Given the description of an element on the screen output the (x, y) to click on. 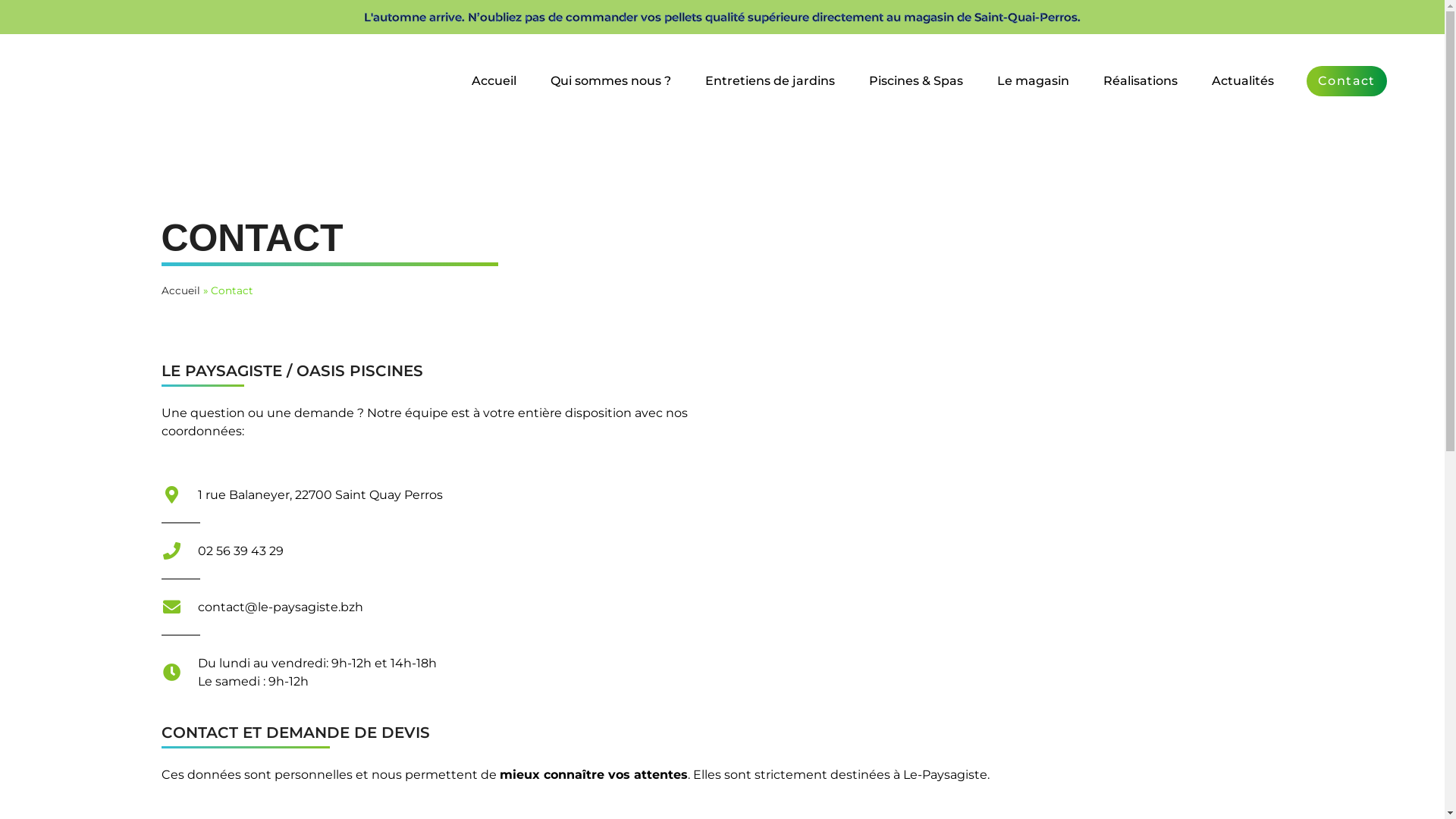
Accueil Element type: text (179, 290)
1 rue Balaneyer, 22700 Saint Quay Perros Element type: hover (1006, 524)
Qui sommes nous ? Element type: text (610, 80)
Accueil Element type: text (493, 80)
Contact Element type: text (1346, 80)
Entretiens de jardins Element type: text (769, 80)
Le magasin Element type: text (1032, 80)
Piscines & Spas Element type: text (915, 80)
